Given the description of an element on the screen output the (x, y) to click on. 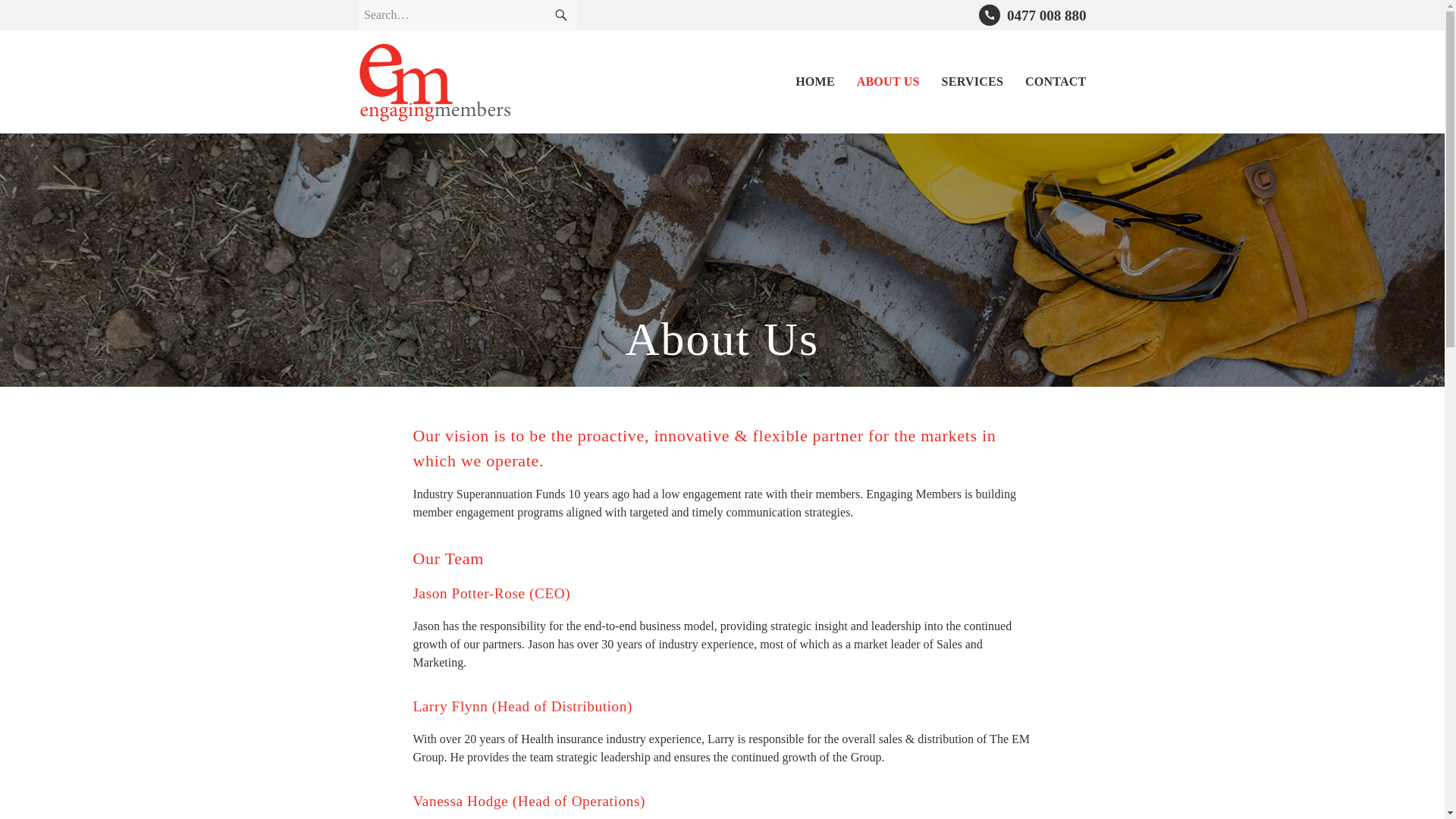
SERVICES Element type: text (972, 81)
Search Element type: hover (560, 15)
CONTACT Element type: text (1055, 81)
HOME Element type: text (814, 81)
ABOUT US Element type: text (887, 81)
0477 008 880 Element type: text (1031, 14)
